Given the description of an element on the screen output the (x, y) to click on. 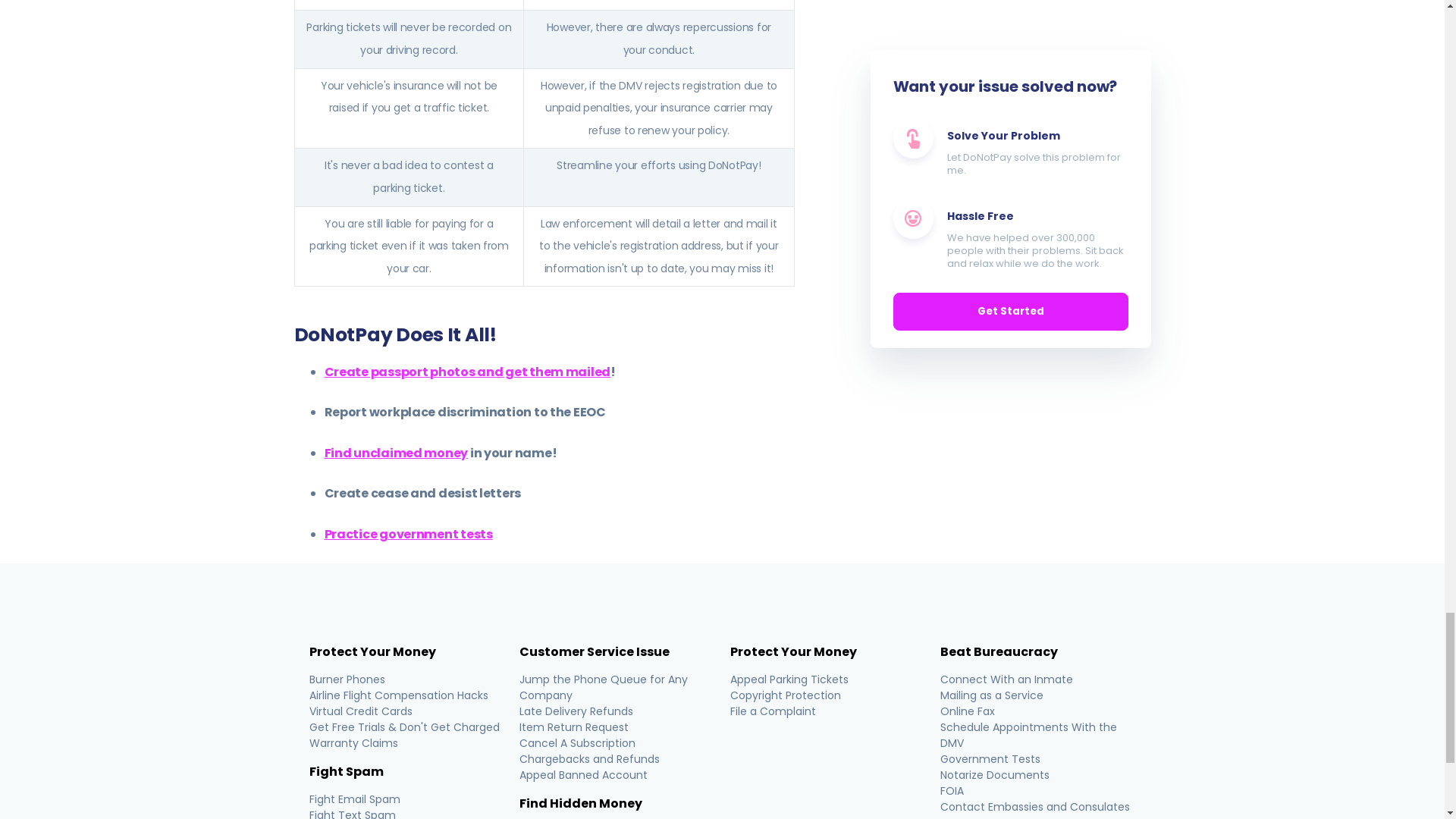
Create passport photos and get them mailed (467, 371)
Find unclaimed money (396, 452)
Practice government tests (408, 533)
